Given the description of an element on the screen output the (x, y) to click on. 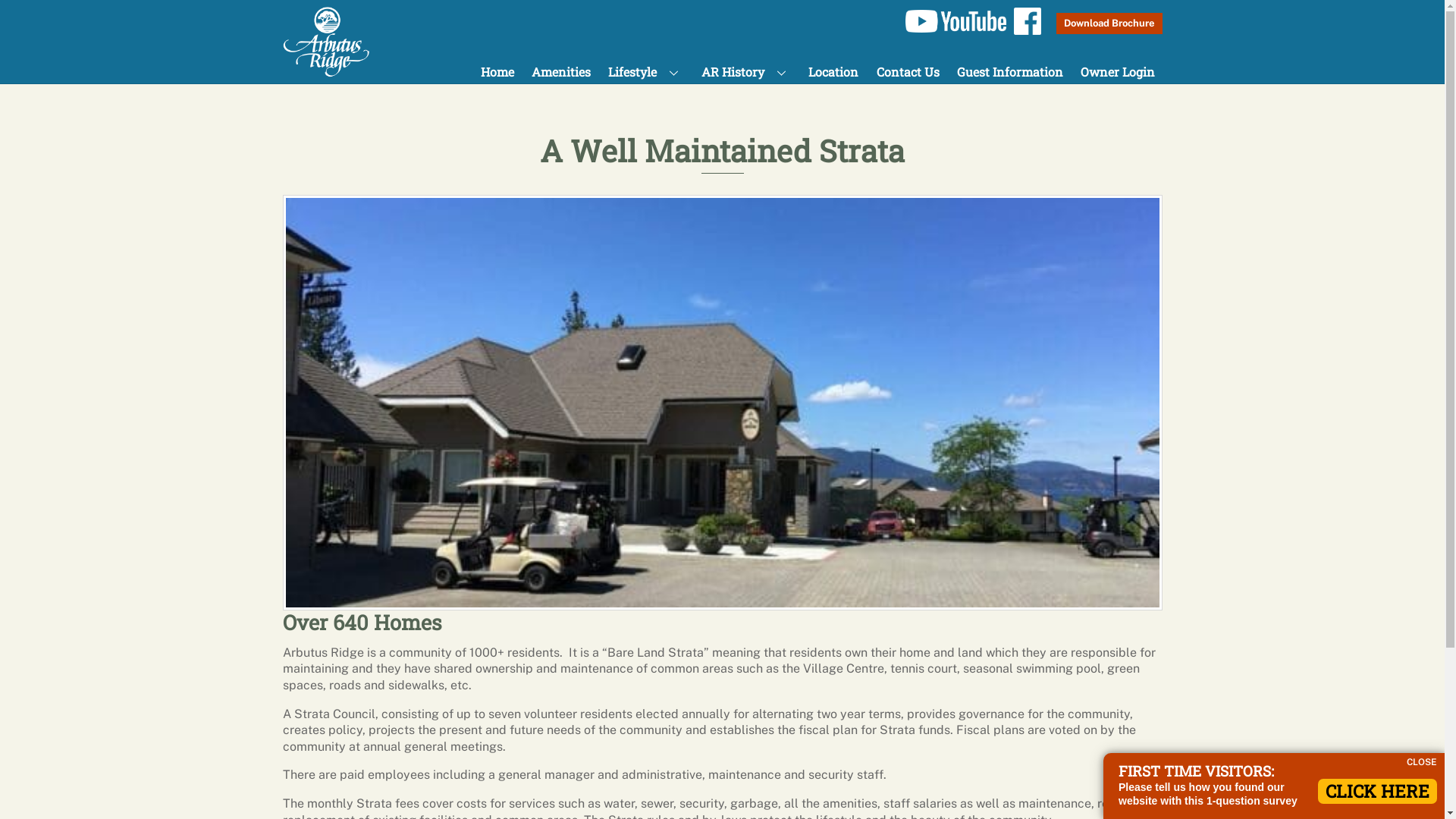
Arbutus Ridge Active Adult Retirement Community Element type: hover (327, 41)
Home Element type: text (496, 71)
Location Element type: text (833, 71)
AR History Element type: text (745, 71)
CLOSE Element type: text (1421, 762)
Contact Us Element type: text (907, 71)
Lifestyle Element type: text (646, 71)
Guest Information Element type: text (1009, 71)
CLICK HERE Element type: text (1377, 790)
logo-arbutus1 Element type: hover (327, 41)
Owner Login Element type: text (1117, 71)
Download Brochure Element type: text (1108, 23)
hp5 Element type: hover (721, 402)
Amenities Element type: text (560, 71)
